Given the description of an element on the screen output the (x, y) to click on. 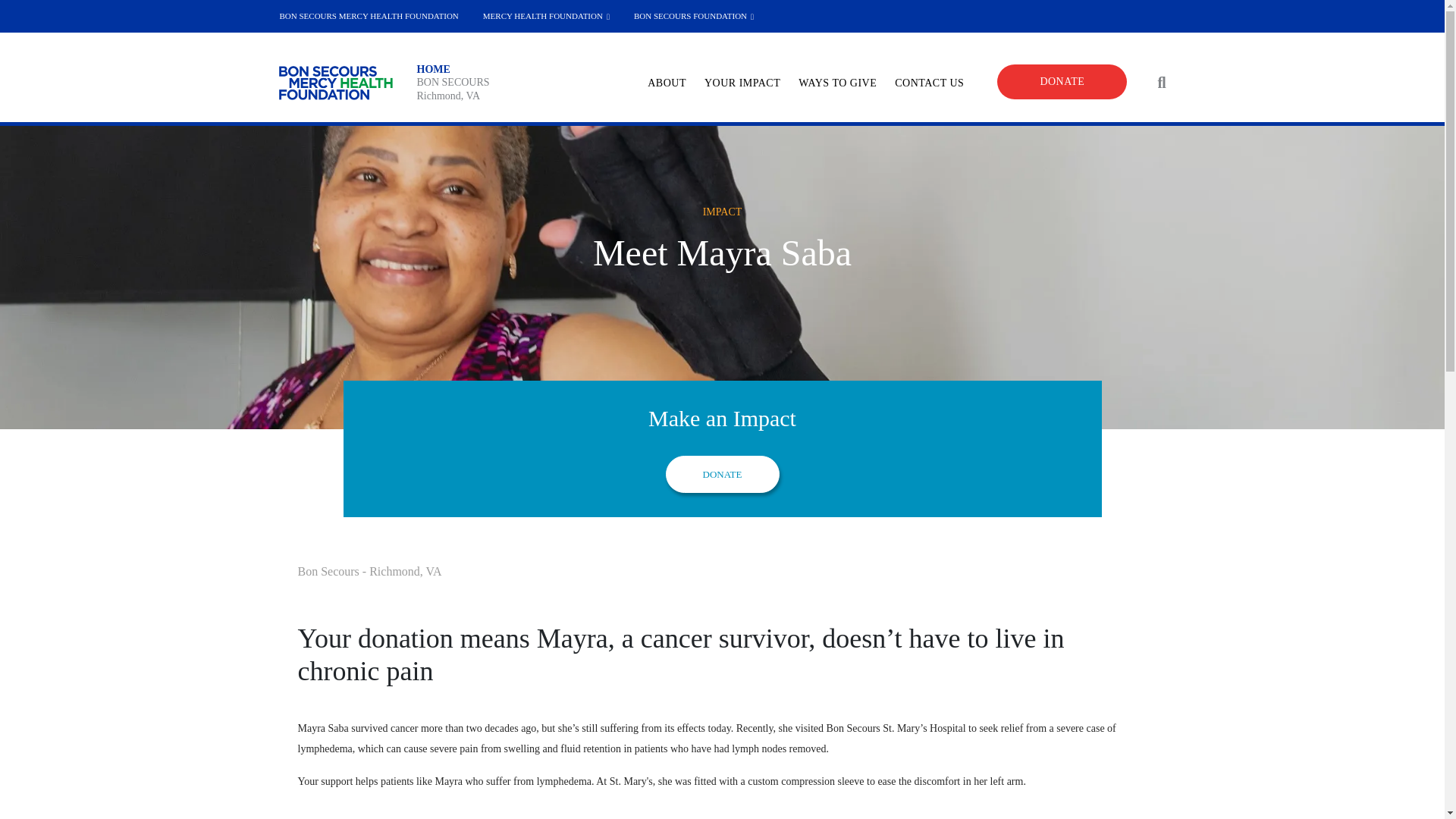
MERCY HEALTH FOUNDATION (546, 16)
BON SECOURS MERCY HEALTH FOUNDATION (368, 16)
BON SECOURS FOUNDATION (693, 16)
